Given the description of an element on the screen output the (x, y) to click on. 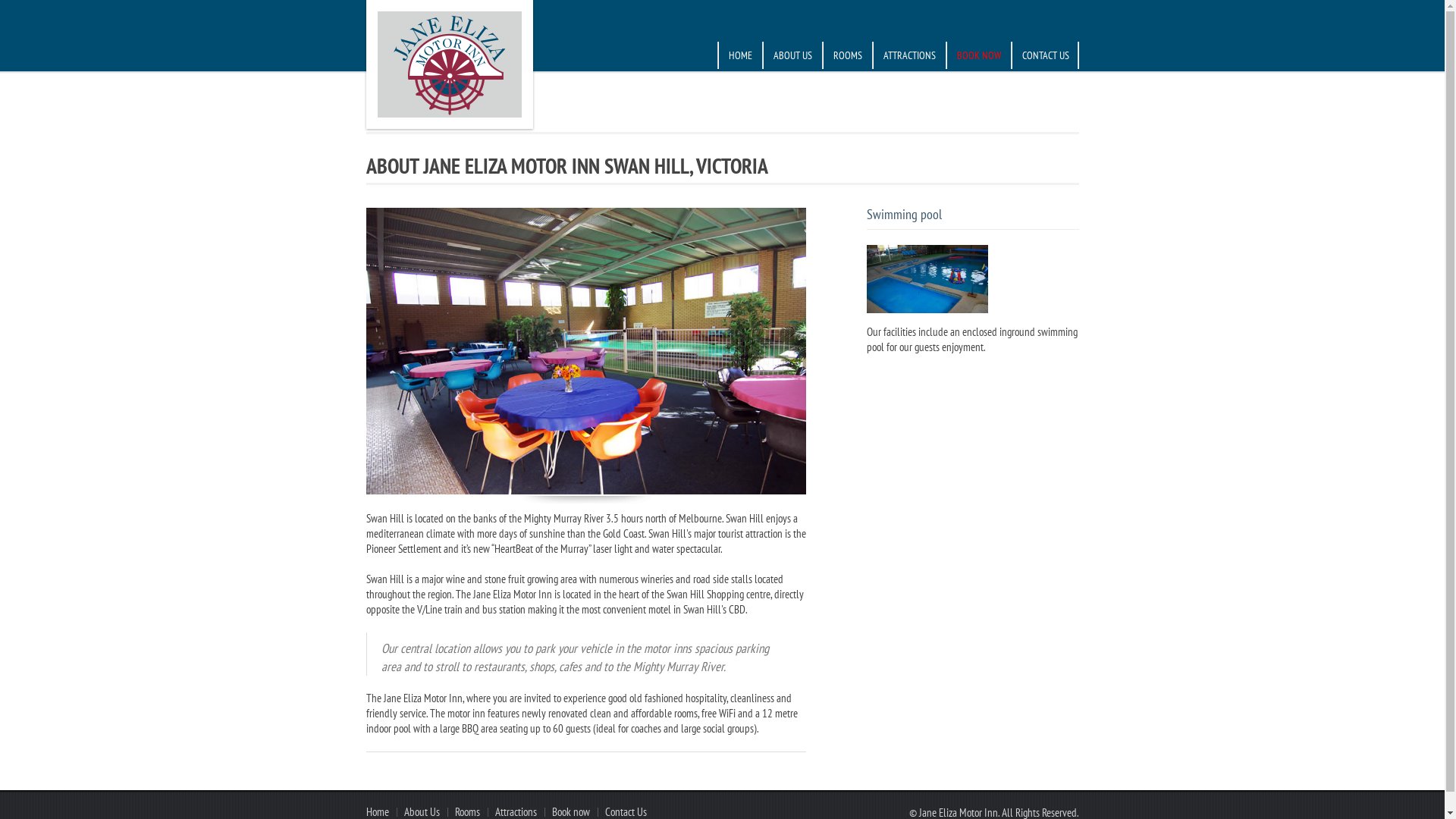
BOOK NOW Element type: text (977, 55)
Jane Eliza Motor Inn Element type: text (449, 64)
ATTRACTIONS Element type: text (908, 55)
ROOMS Element type: text (847, 55)
CONTACT US Element type: text (1044, 55)
ABOUT US Element type: text (791, 55)
HOME Element type: text (739, 55)
